Given the description of an element on the screen output the (x, y) to click on. 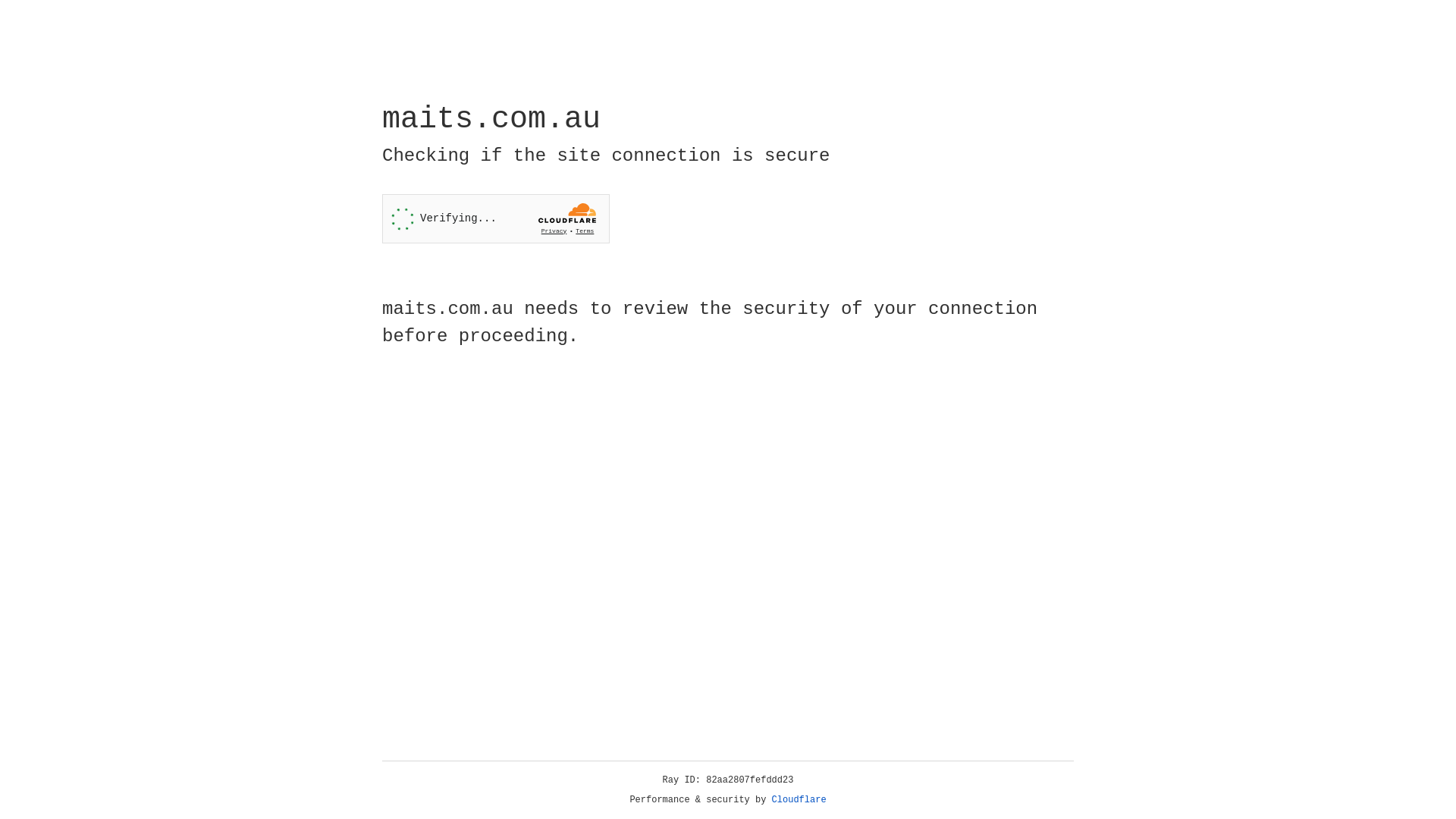
Cloudflare Element type: text (798, 799)
Widget containing a Cloudflare security challenge Element type: hover (495, 218)
